Given the description of an element on the screen output the (x, y) to click on. 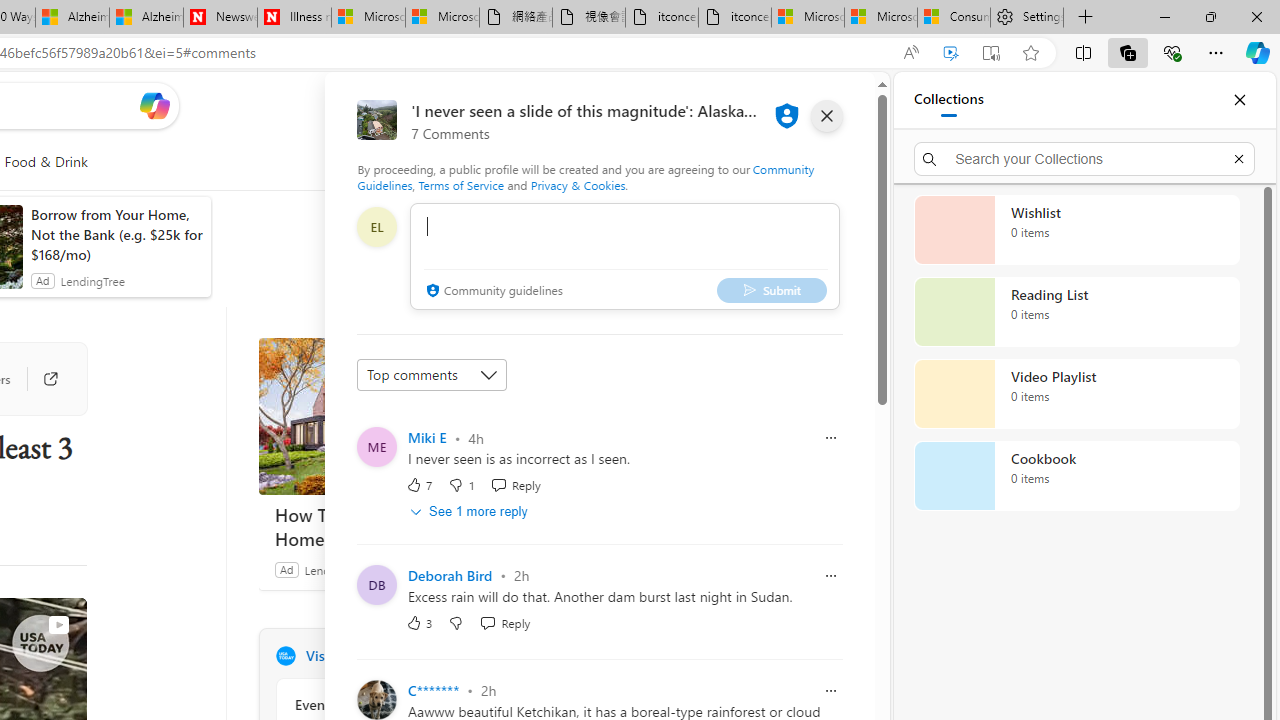
Enhance video (950, 53)
Sort comments by (431, 374)
Miki E (427, 437)
Terms of Service (461, 184)
USA TODAY (285, 655)
Profile Picture (376, 699)
Newsweek - News, Analysis, Politics, Business, Technology (220, 17)
View on Watch (58, 625)
close (827, 115)
Consumer Health Data Privacy Policy (953, 17)
